Given the description of an element on the screen output the (x, y) to click on. 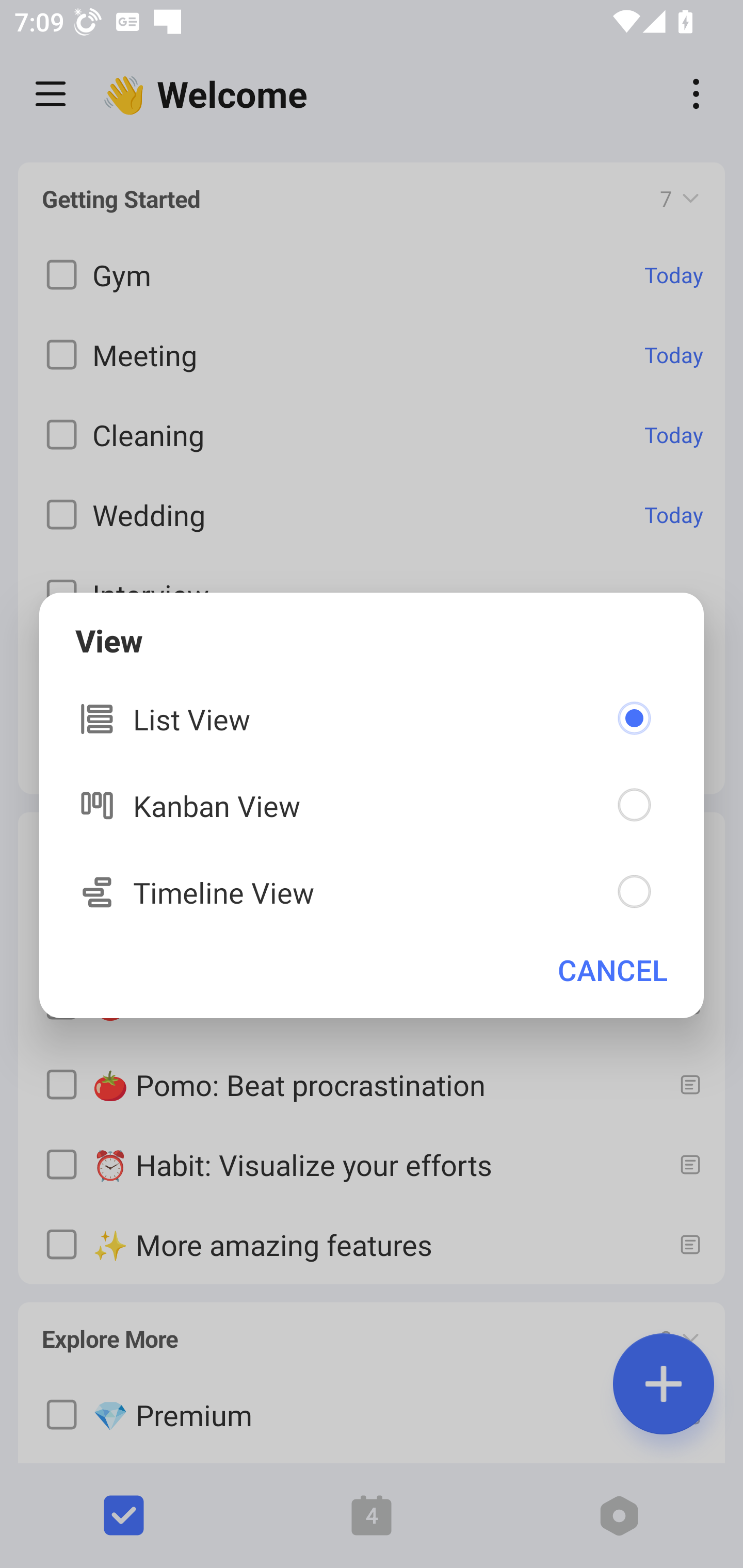
List View (371, 718)
Kanban View (371, 805)
Timeline View (371, 892)
CANCEL (612, 969)
